Given the description of an element on the screen output the (x, y) to click on. 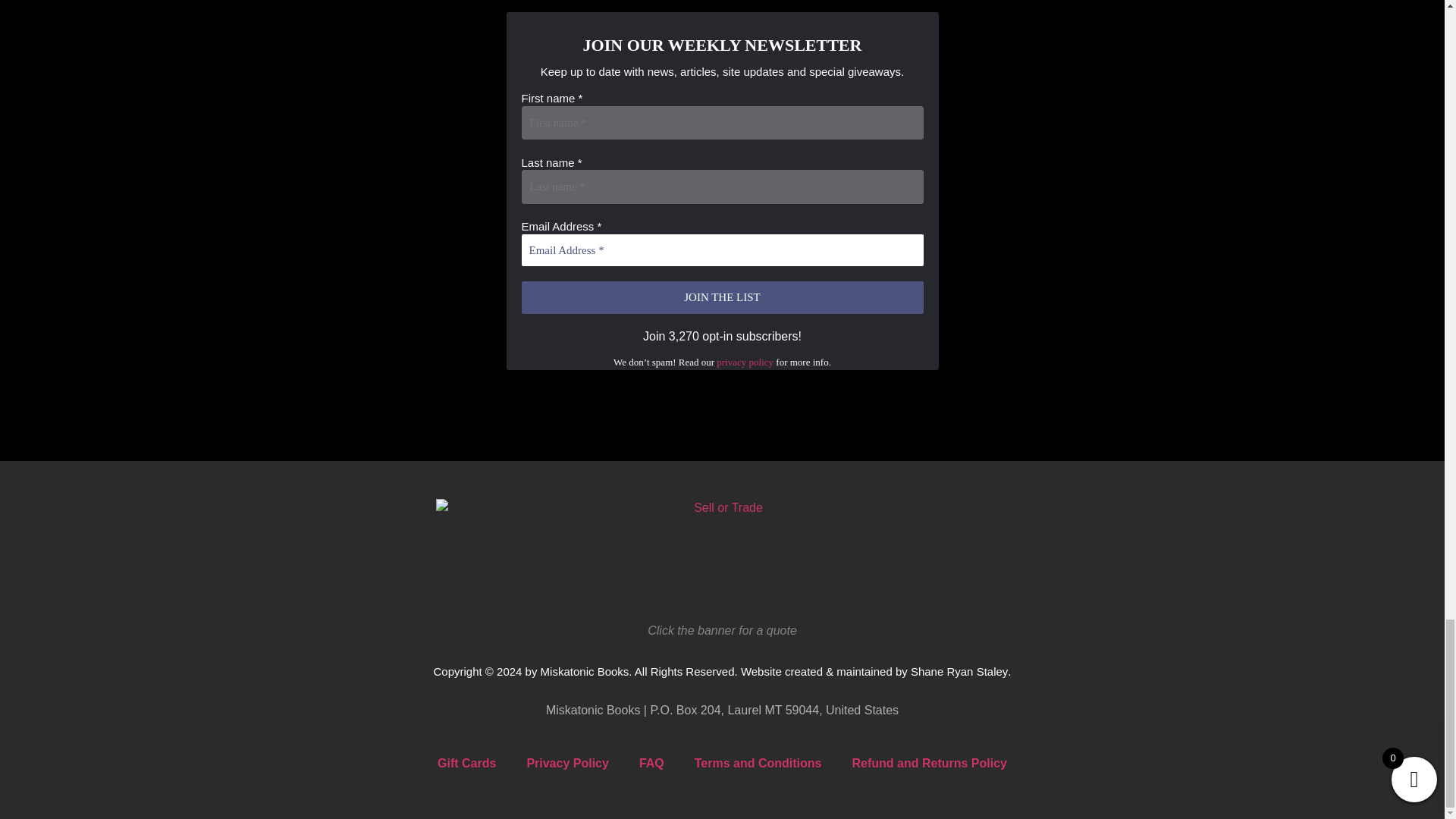
First name (722, 123)
Email Address (722, 250)
Last name (722, 186)
JOIN THE LIST (722, 297)
